Given the description of an element on the screen output the (x, y) to click on. 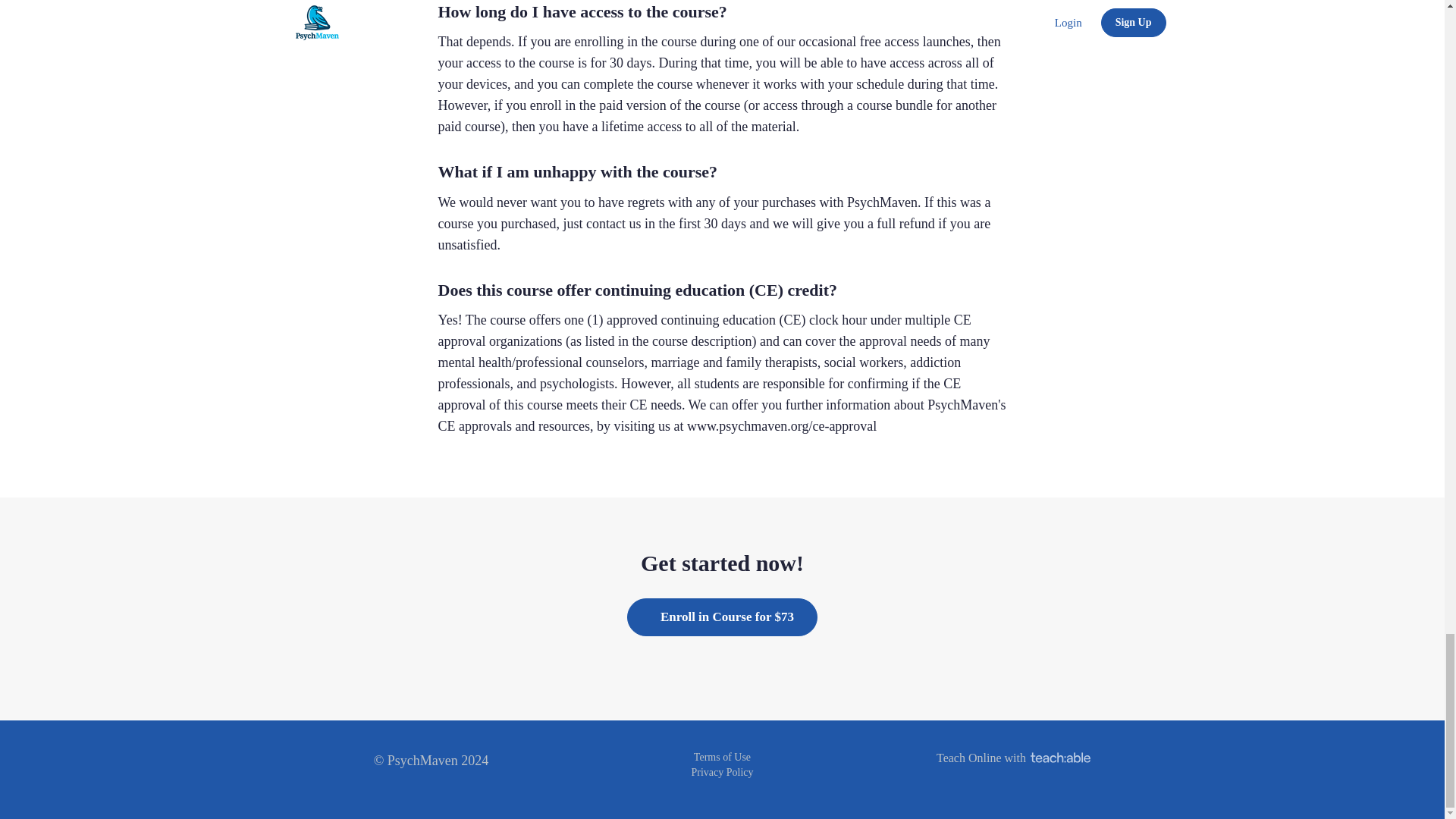
Privacy Policy (721, 771)
Terms of Use (722, 756)
Teach Online with (1013, 757)
